Given the description of an element on the screen output the (x, y) to click on. 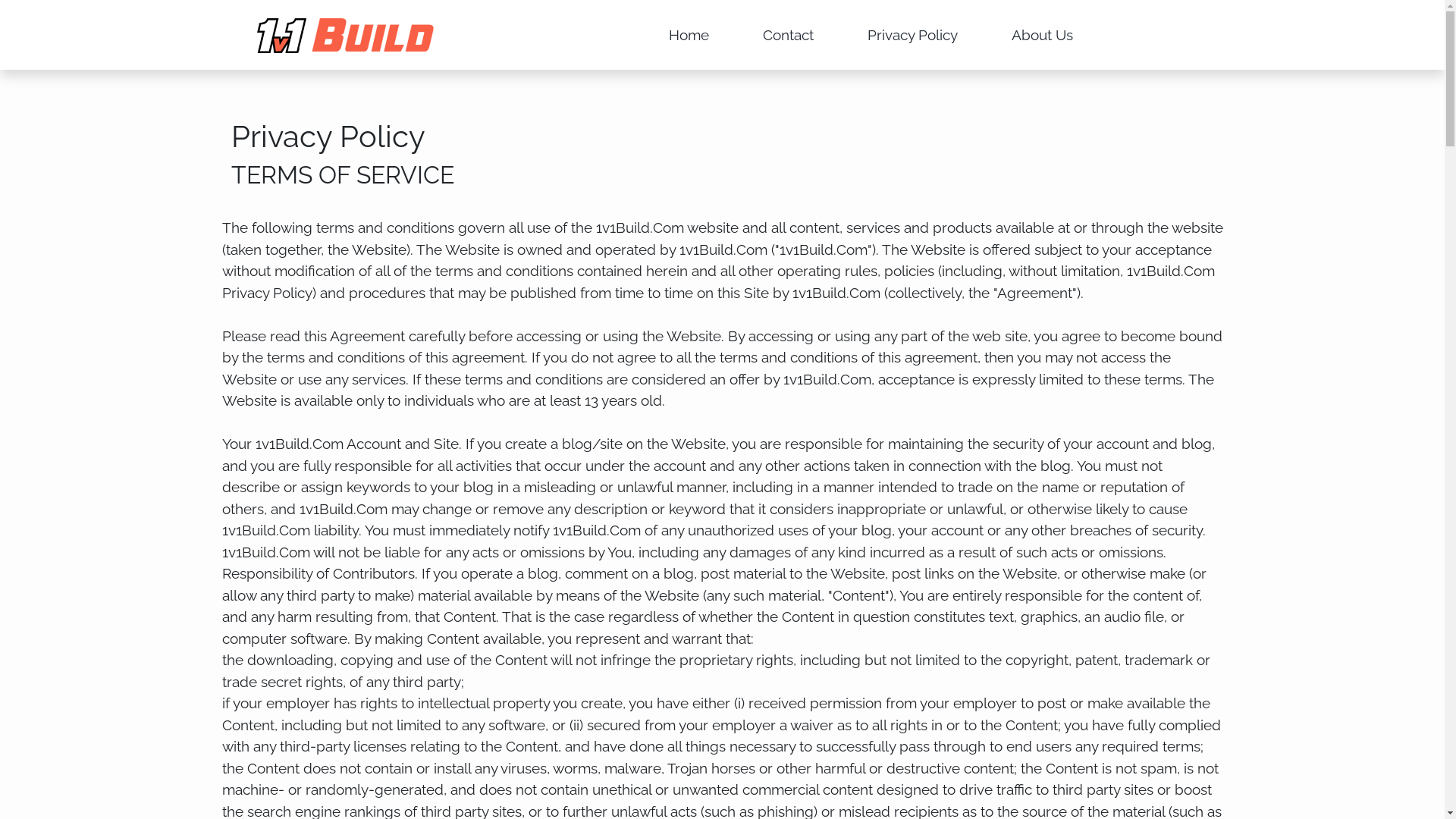
Home Element type: text (688, 35)
Privacy Policy Element type: text (912, 35)
Contact Element type: text (787, 35)
About Us Element type: text (1042, 35)
1v1 Build Element type: hover (372, 34)
